Given the description of an element on the screen output the (x, y) to click on. 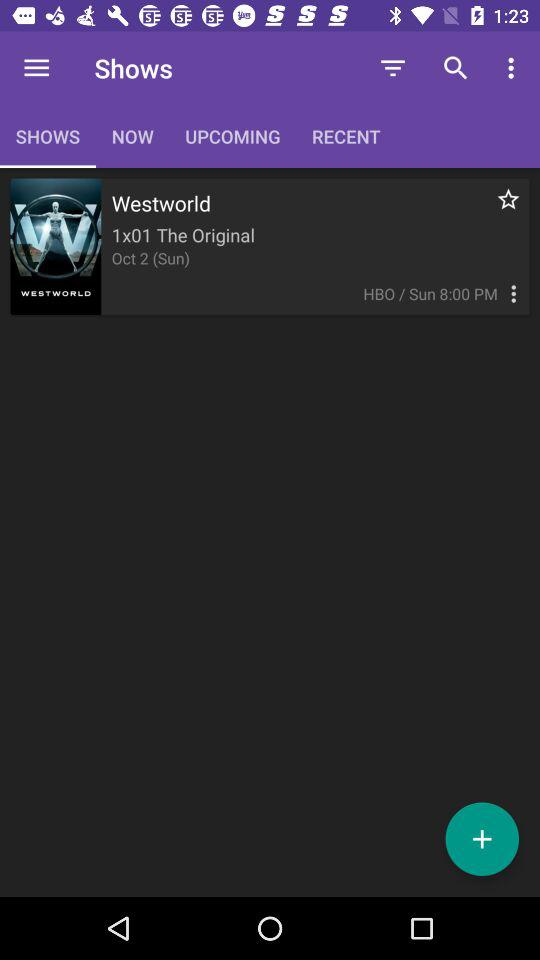
turn off item next to westworld item (497, 209)
